Given the description of an element on the screen output the (x, y) to click on. 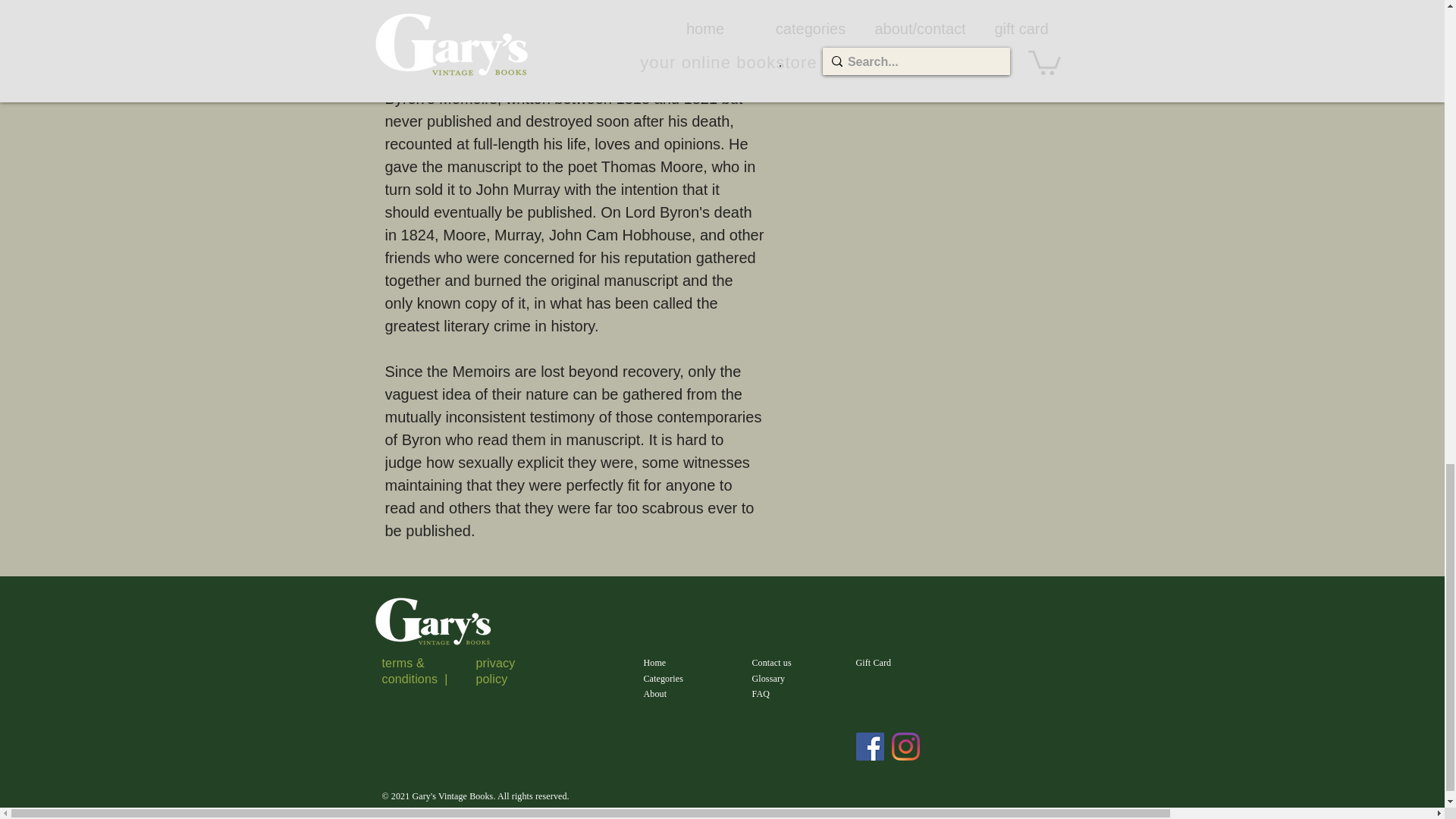
Home (654, 662)
Gift Card (873, 662)
Contact us (772, 662)
privacy policy (495, 670)
Glossary (769, 678)
Categories (662, 678)
About (654, 693)
FAQ (761, 693)
